Given the description of an element on the screen output the (x, y) to click on. 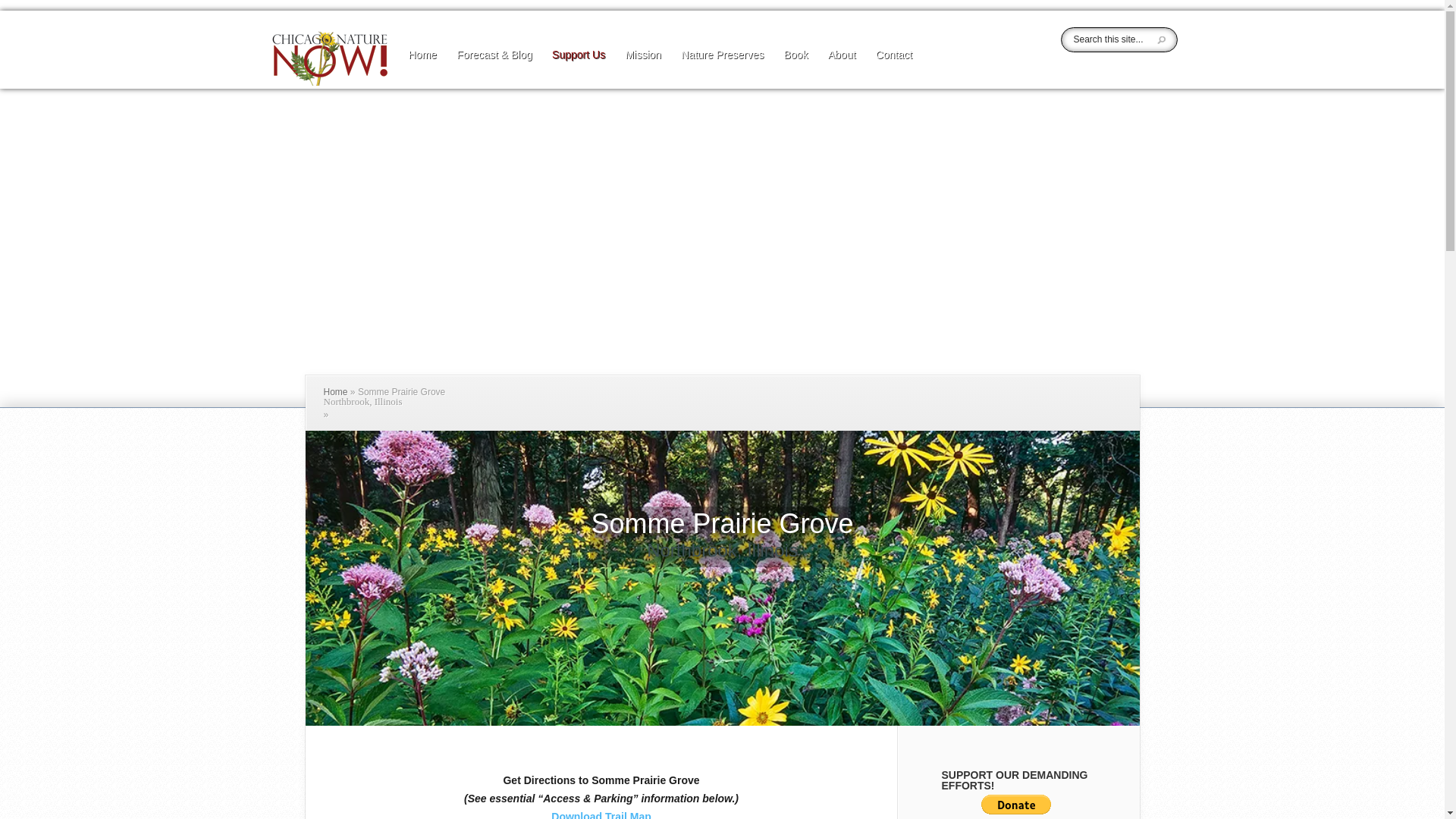
PayPal - The safer, easier way to pay online! (1015, 806)
Nature Preserves (721, 66)
Search this site... (1115, 39)
Mission (641, 66)
About (841, 66)
Support Us (577, 66)
Search this site... (1115, 39)
Book (794, 66)
Home (422, 66)
